Given the description of an element on the screen output the (x, y) to click on. 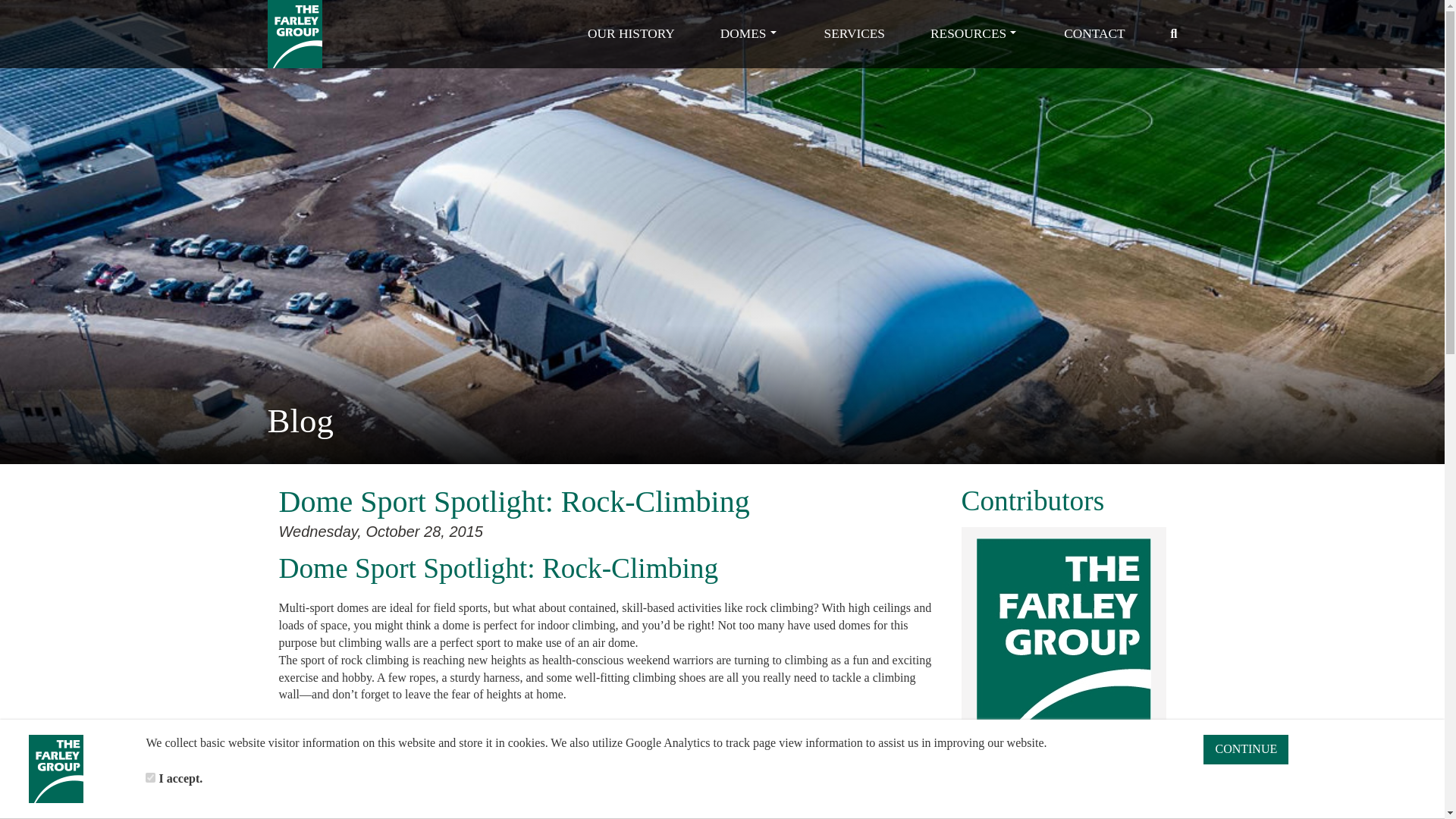
1 (150, 777)
SERVICES (854, 33)
OUR HISTORY (631, 33)
CONTINUE (1246, 749)
CONTACT (1094, 33)
RESOURCES (973, 33)
Dome Sport Spotlight: Rock-Climbing (514, 503)
DOMES (749, 33)
